Given the description of an element on the screen output the (x, y) to click on. 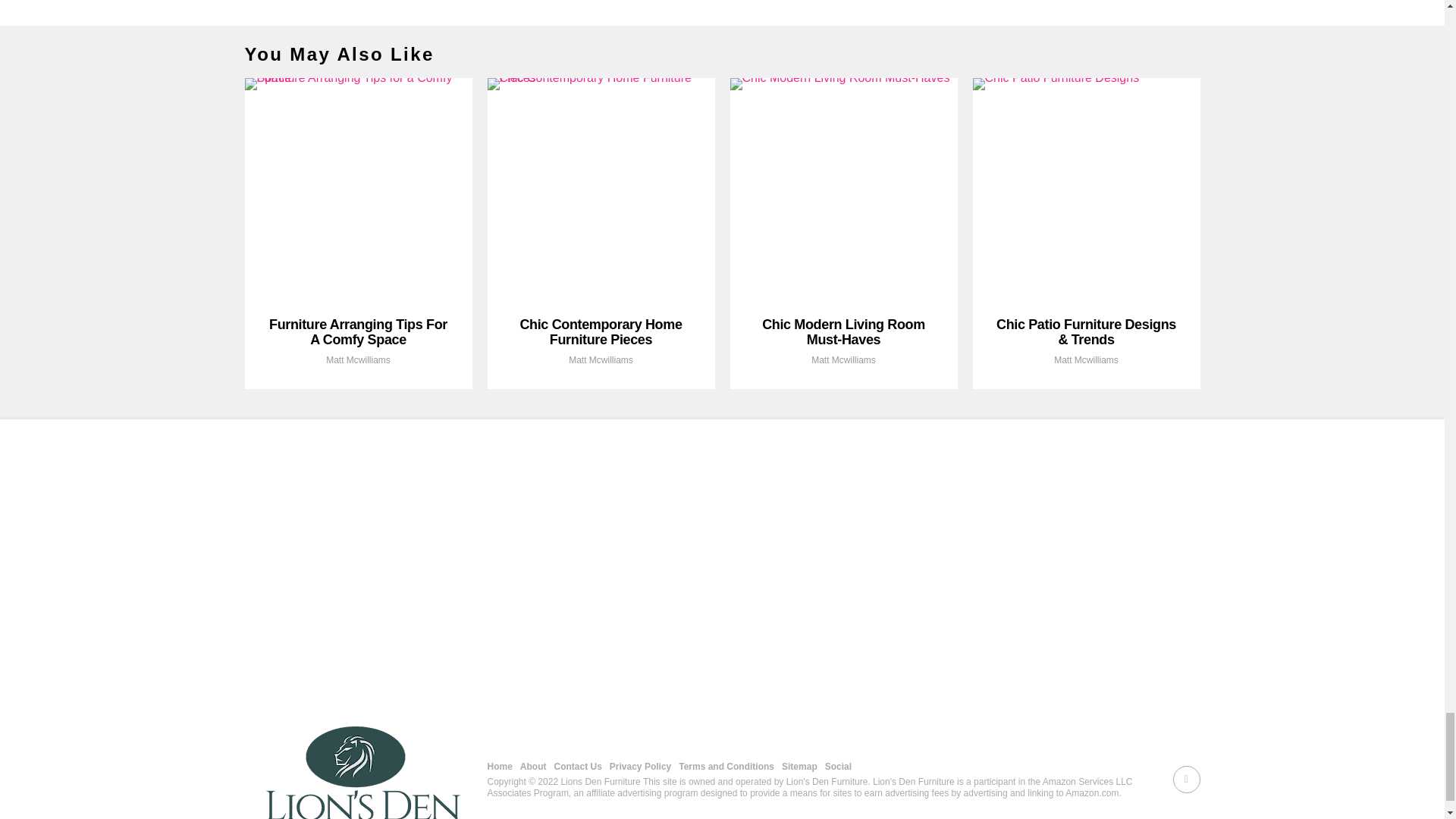
Posts by Matt Mcwilliams (843, 359)
Posts by Matt Mcwilliams (358, 359)
Posts by Matt Mcwilliams (601, 359)
Posts by Matt Mcwilliams (1086, 359)
